Given the description of an element on the screen output the (x, y) to click on. 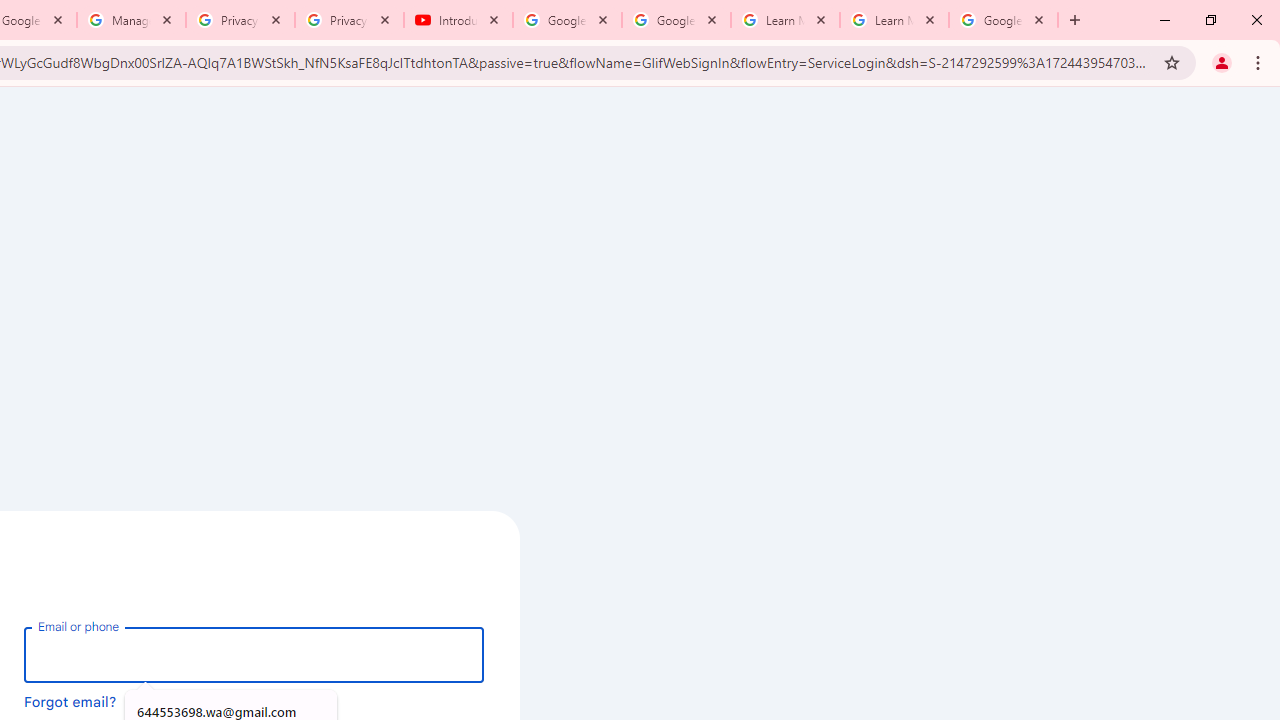
Introduction | Google Privacy Policy - YouTube (458, 20)
